Given the description of an element on the screen output the (x, y) to click on. 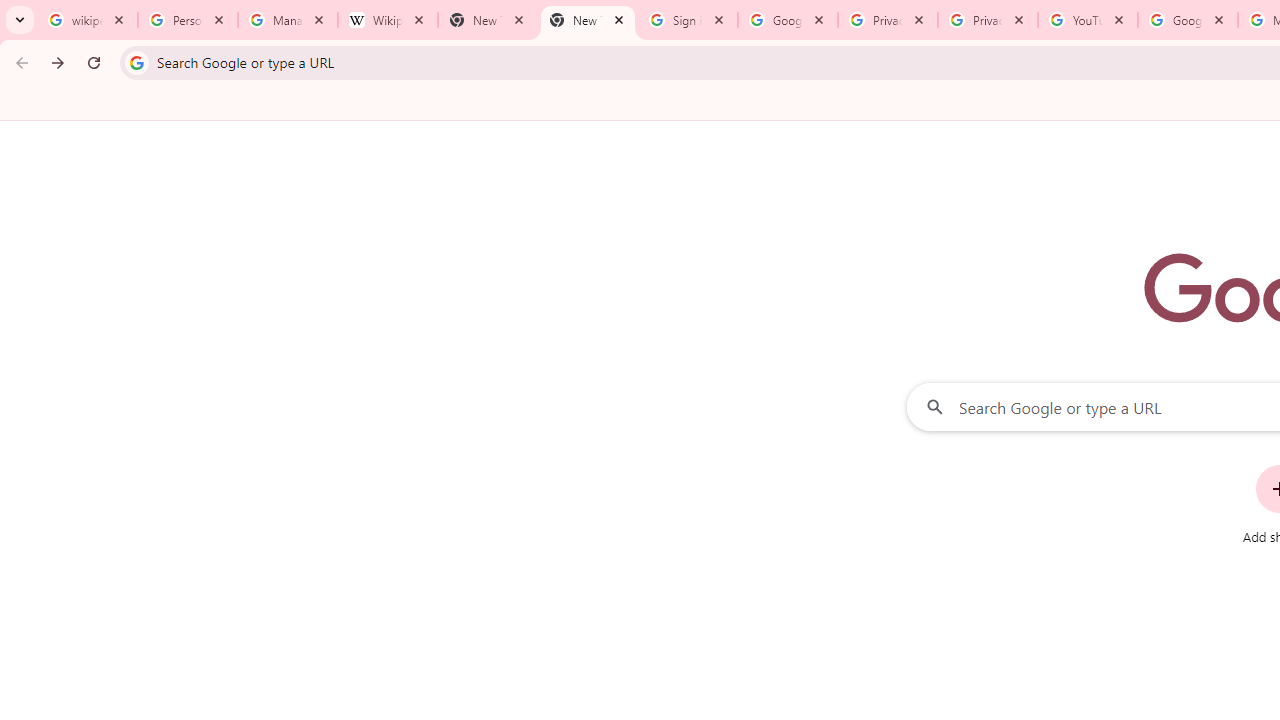
Google Drive: Sign-in (788, 20)
Personalization & Google Search results - Google Search Help (188, 20)
